Given the description of an element on the screen output the (x, y) to click on. 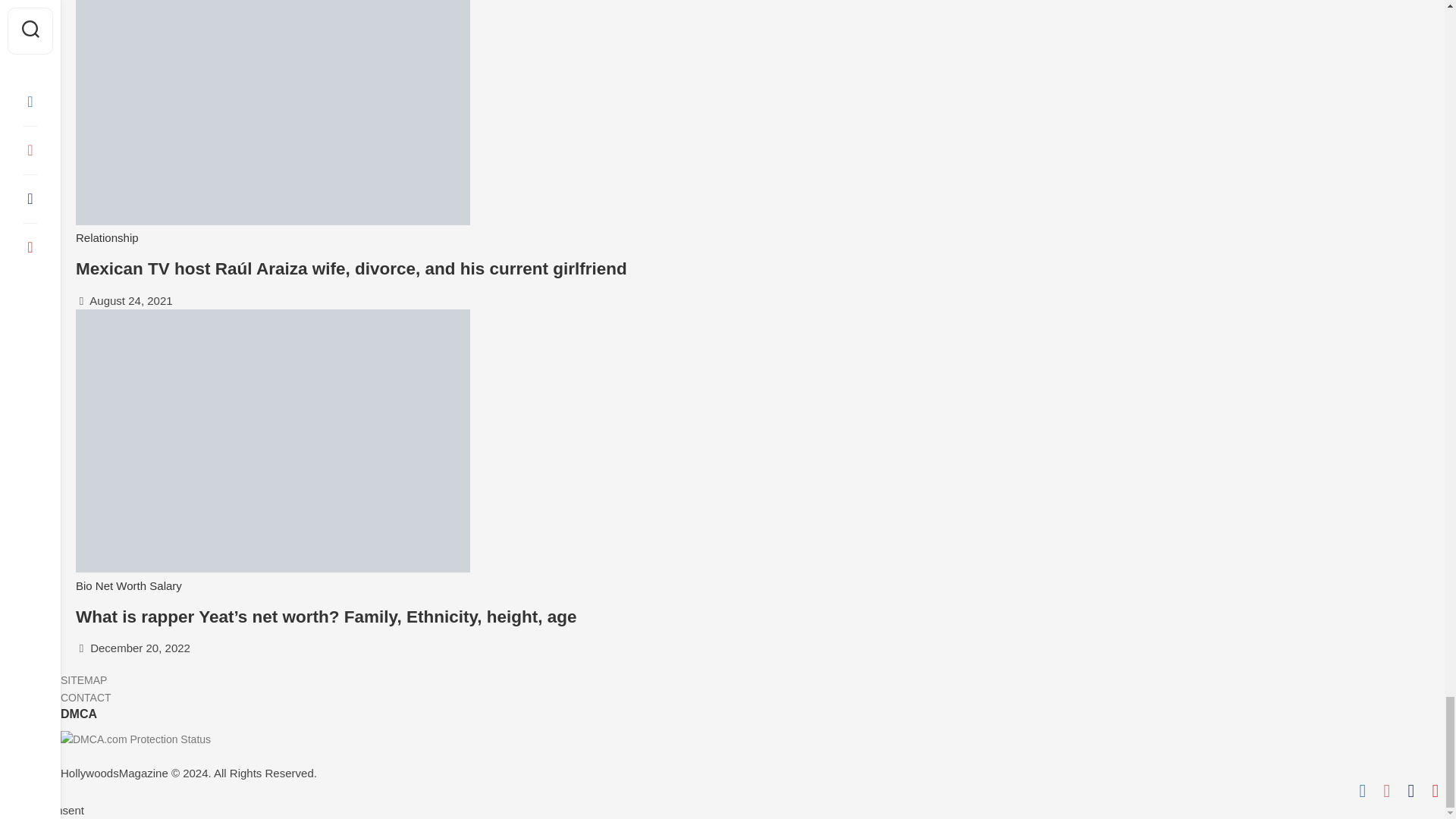
Facebook (1362, 791)
Reddit (1386, 791)
DMCA.com Protection Status (136, 739)
Tumblr (1411, 791)
